Given the description of an element on the screen output the (x, y) to click on. 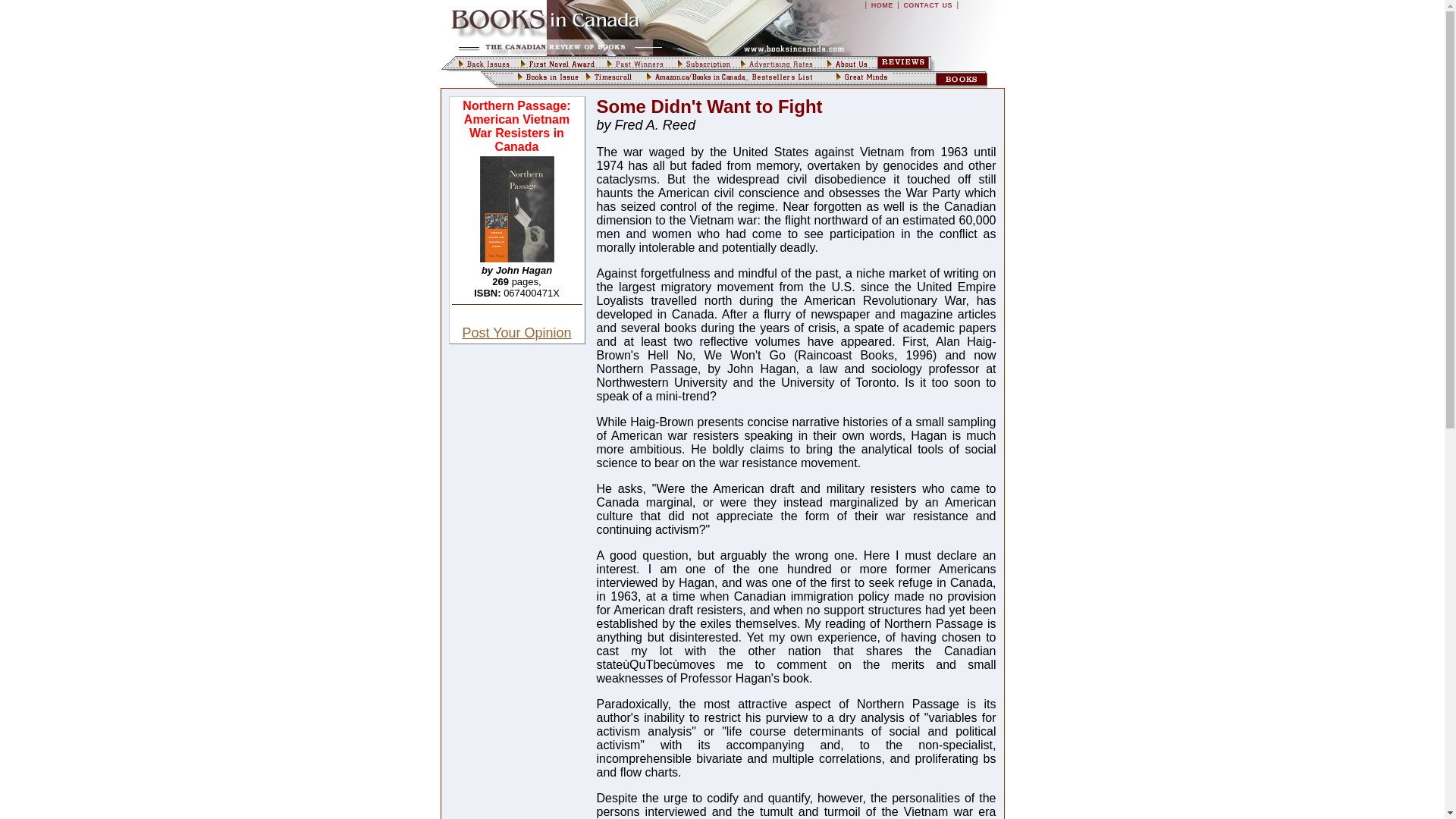
Post Your Opinion (515, 332)
HOME (881, 5)
CONTACT US (927, 5)
